Given the description of an element on the screen output the (x, y) to click on. 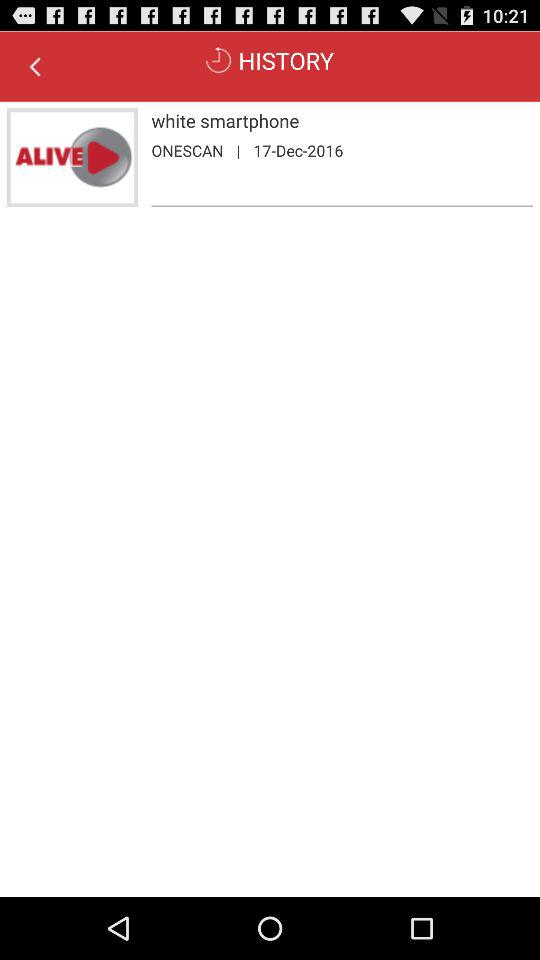
jump until the | app (238, 150)
